Given the description of an element on the screen output the (x, y) to click on. 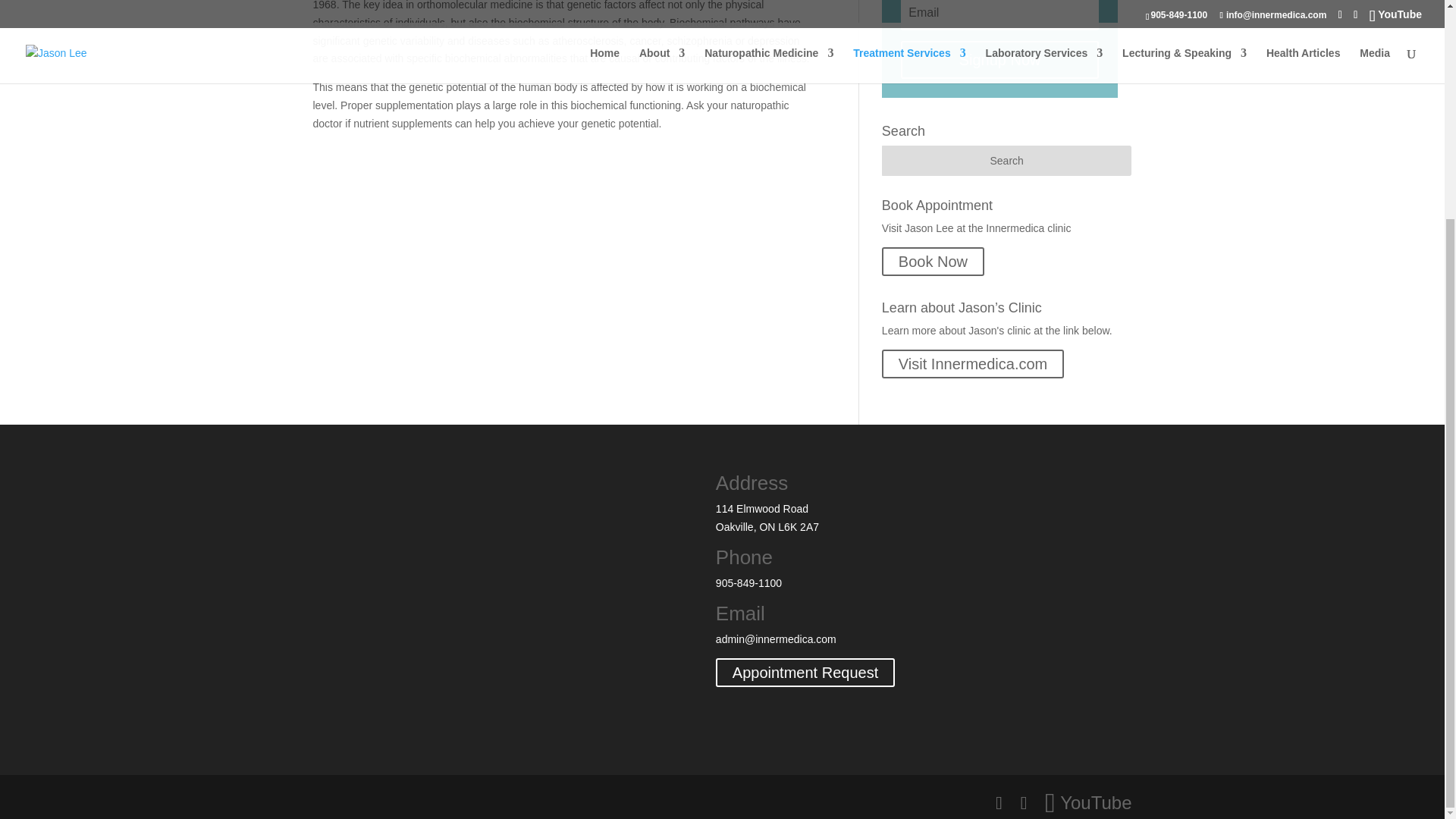
Search (1007, 160)
